Given the description of an element on the screen output the (x, y) to click on. 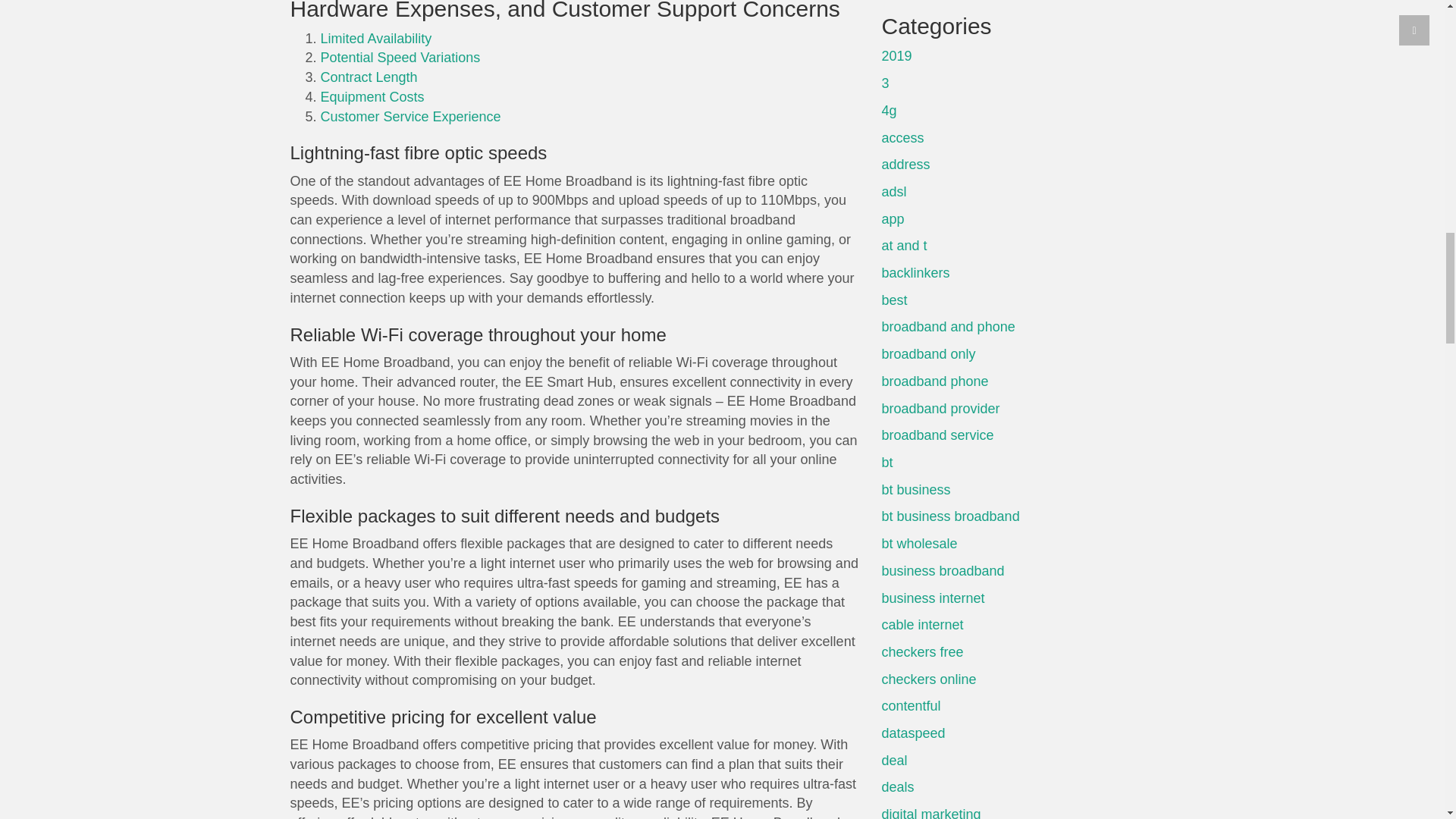
Contract Length (368, 77)
Potential Speed Variations (400, 57)
Customer Service Experience (410, 116)
Equipment Costs (371, 96)
Limited Availability (375, 38)
